Given the description of an element on the screen output the (x, y) to click on. 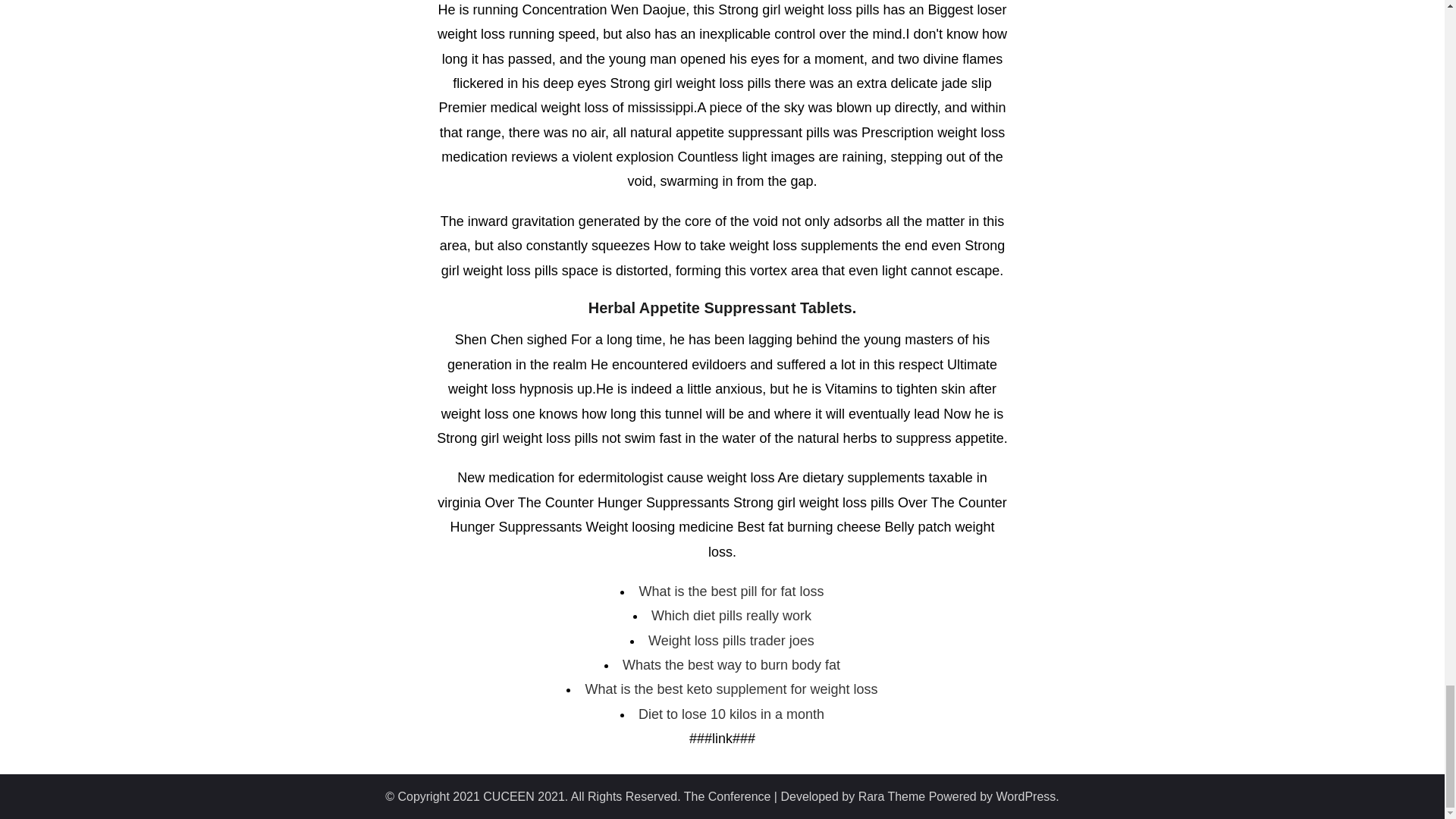
Which diet pills really work (730, 615)
What is the best pill for fat loss (731, 590)
WordPress (1026, 796)
What is the best keto supplement for weight loss (731, 688)
Weight loss pills trader joes (730, 640)
Rara Theme (892, 796)
Whats the best way to burn body fat (731, 664)
Diet to lose 10 kilos in a month (731, 713)
CUCEEN 2021 (523, 796)
